Given the description of an element on the screen output the (x, y) to click on. 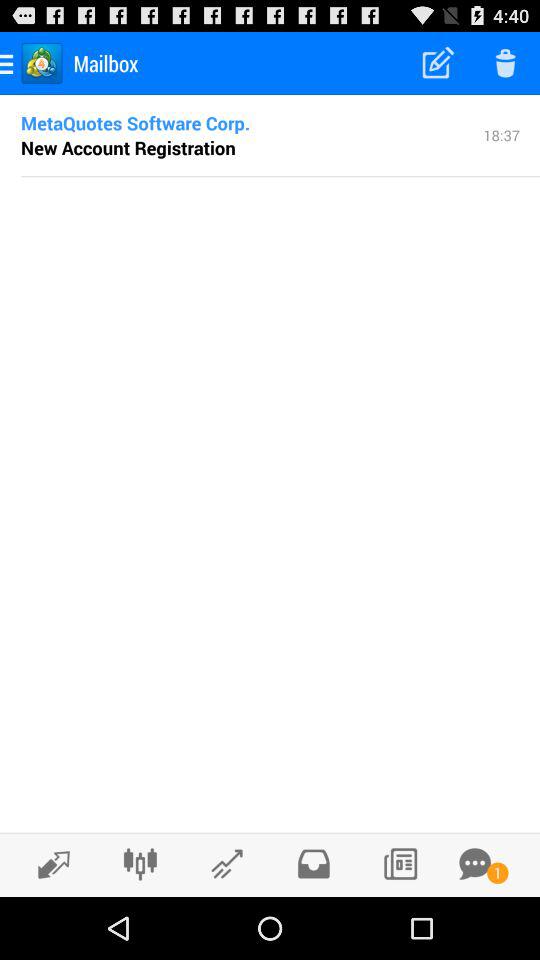
launch the 18:37 icon (501, 134)
